Given the description of an element on the screen output the (x, y) to click on. 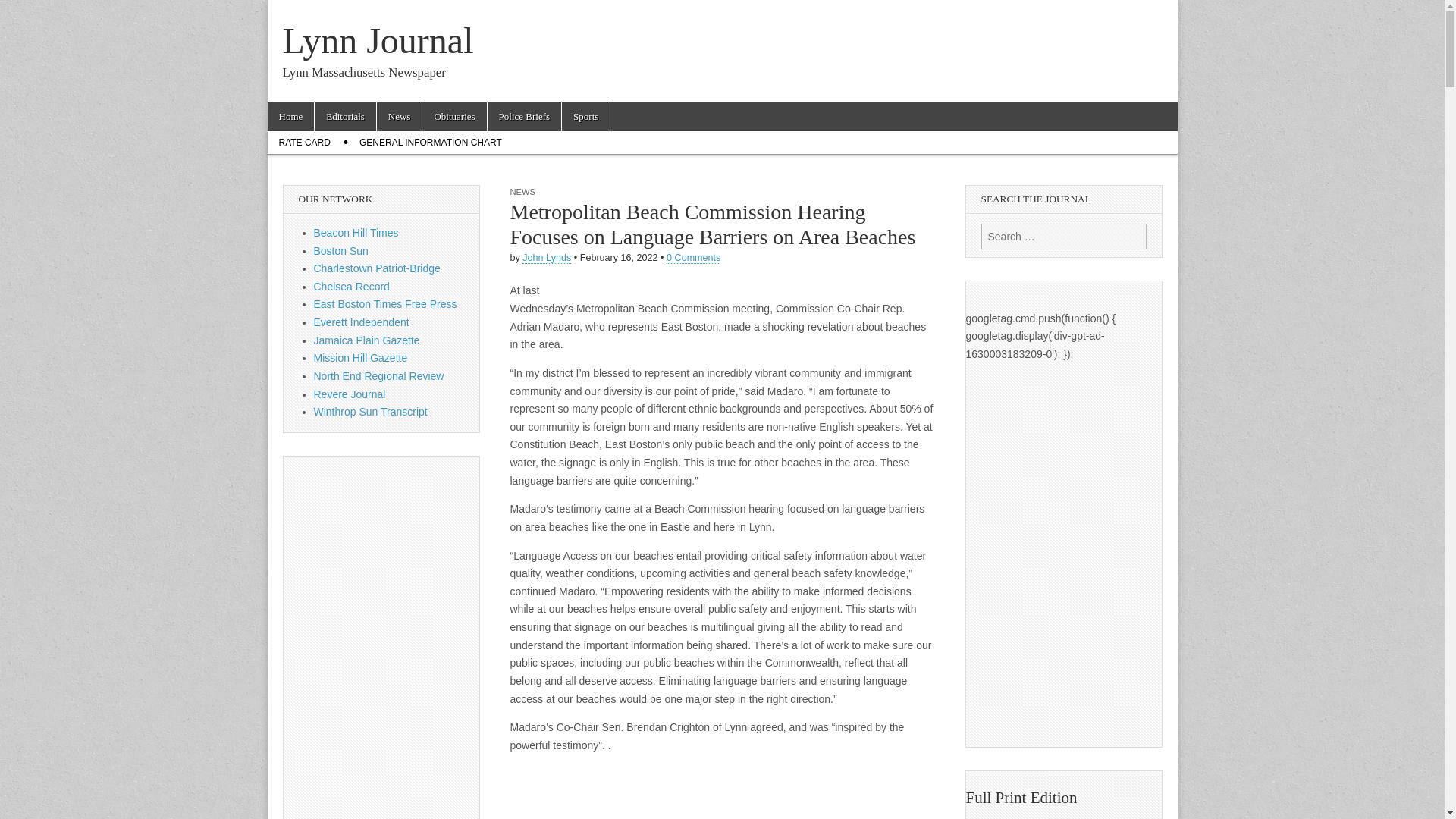
Charlestown Patriot-Bridge (377, 268)
News (399, 116)
Mission Hill Gazette (360, 357)
Winthrop Sun Transcript (371, 411)
Home (290, 116)
Lynn Journal (377, 40)
RATE CARD (303, 142)
Jamaica Plain Gazette (367, 340)
North End Regional Review (379, 376)
Editorials (344, 116)
Posts by John Lynds (546, 257)
Everett Independent (361, 322)
Lynn Journal (377, 40)
East Boston Times Free Press (385, 304)
